Given the description of an element on the screen output the (x, y) to click on. 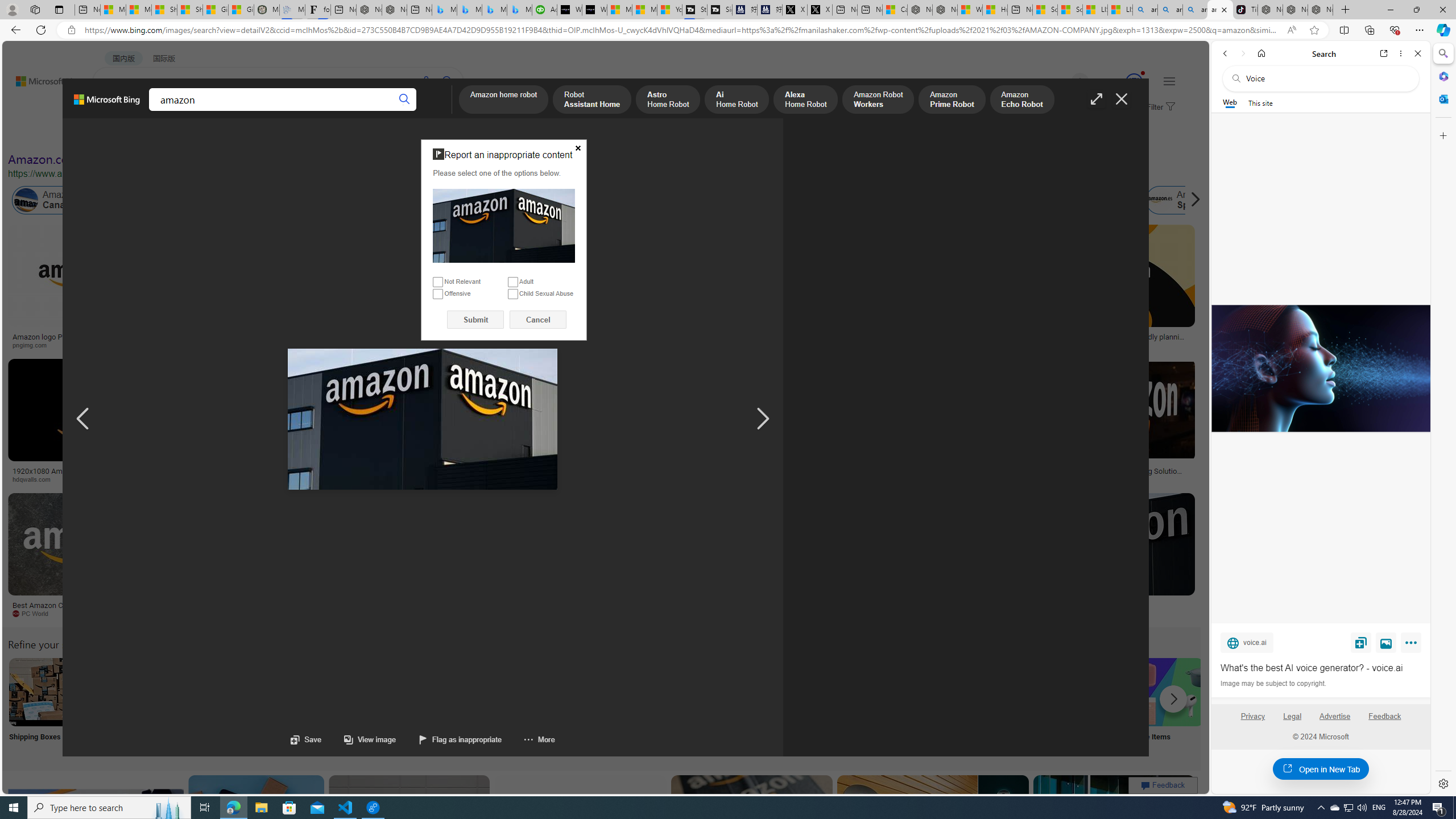
Outlook (1442, 98)
Amazon.com.au (881, 200)
Amazon Prime Robot (951, 100)
Listen: What's next for Amazon?usatoday.comSave (406, 289)
Microsoft 365 (1442, 76)
Search the web (1326, 78)
Type (212, 135)
Image size (127, 135)
cordcuttersnews.com (860, 612)
vecteezy.com (908, 479)
